Given the description of an element on the screen output the (x, y) to click on. 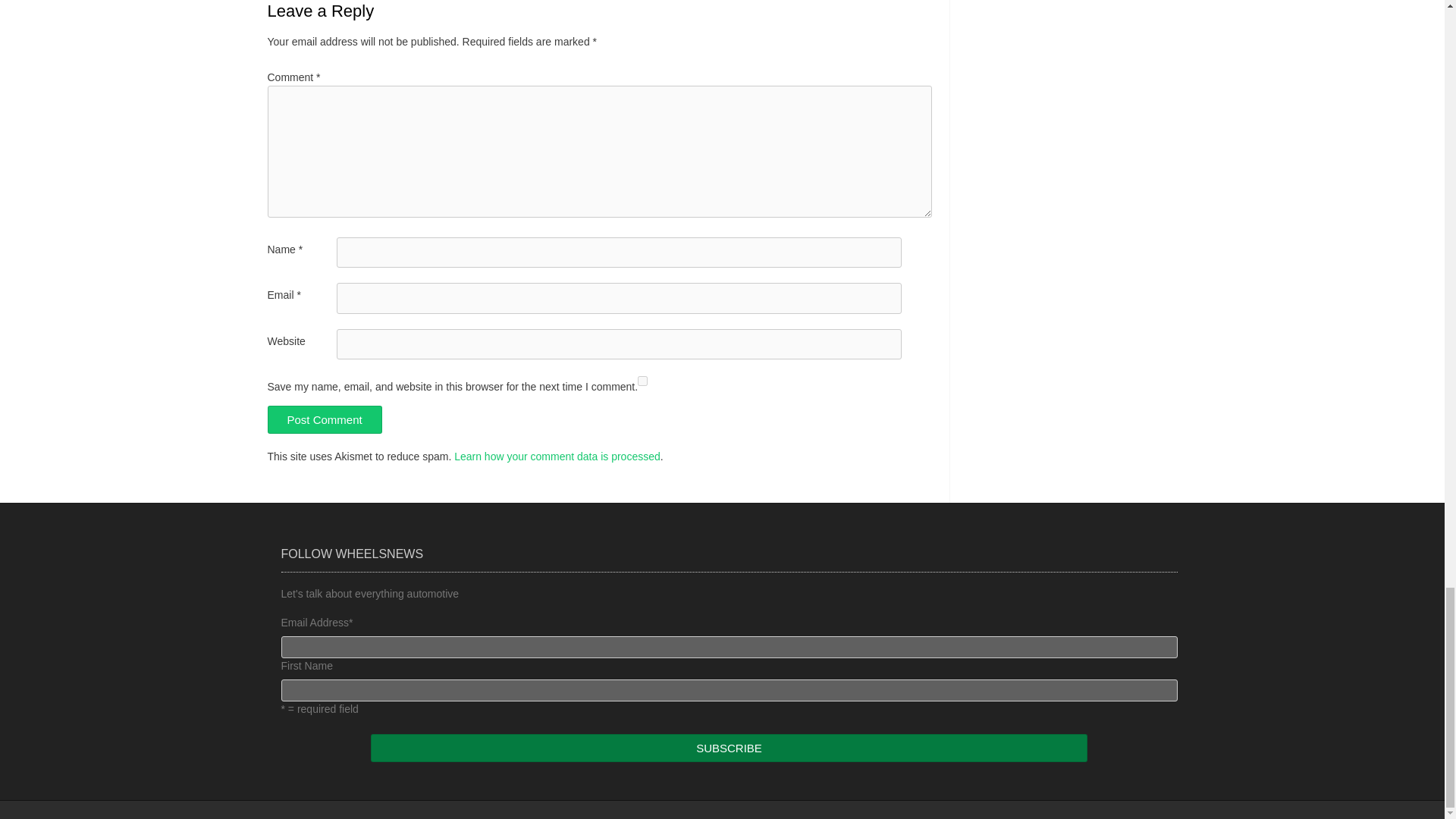
SUBSCRIBE (729, 747)
SUBSCRIBE (729, 747)
Learn how your comment data is processed (557, 456)
Post Comment (323, 419)
Post Comment (323, 419)
yes (642, 380)
